Given the description of an element on the screen output the (x, y) to click on. 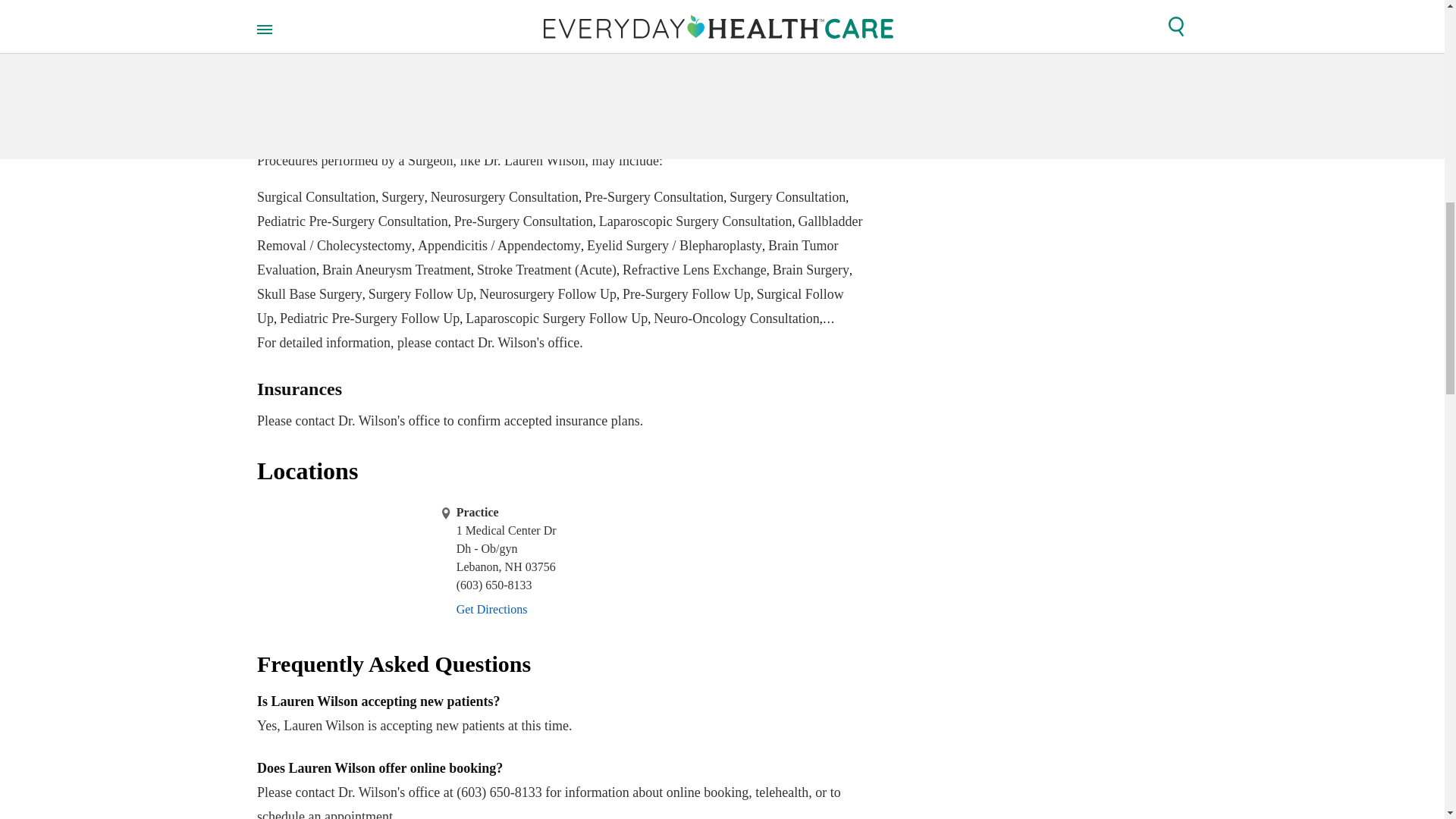
Laparoscopic Surgery Consultation (695, 221)
Aneurysm (285, 58)
Peritonitis (712, 58)
Angina (339, 58)
Pediatric Pre-Surgery Consultation (352, 221)
Surgery (403, 196)
Brain Surgery (810, 269)
Surgical Consultation (316, 196)
Pre-Surgery Follow Up (687, 294)
Appendicitis (491, 58)
